Given the description of an element on the screen output the (x, y) to click on. 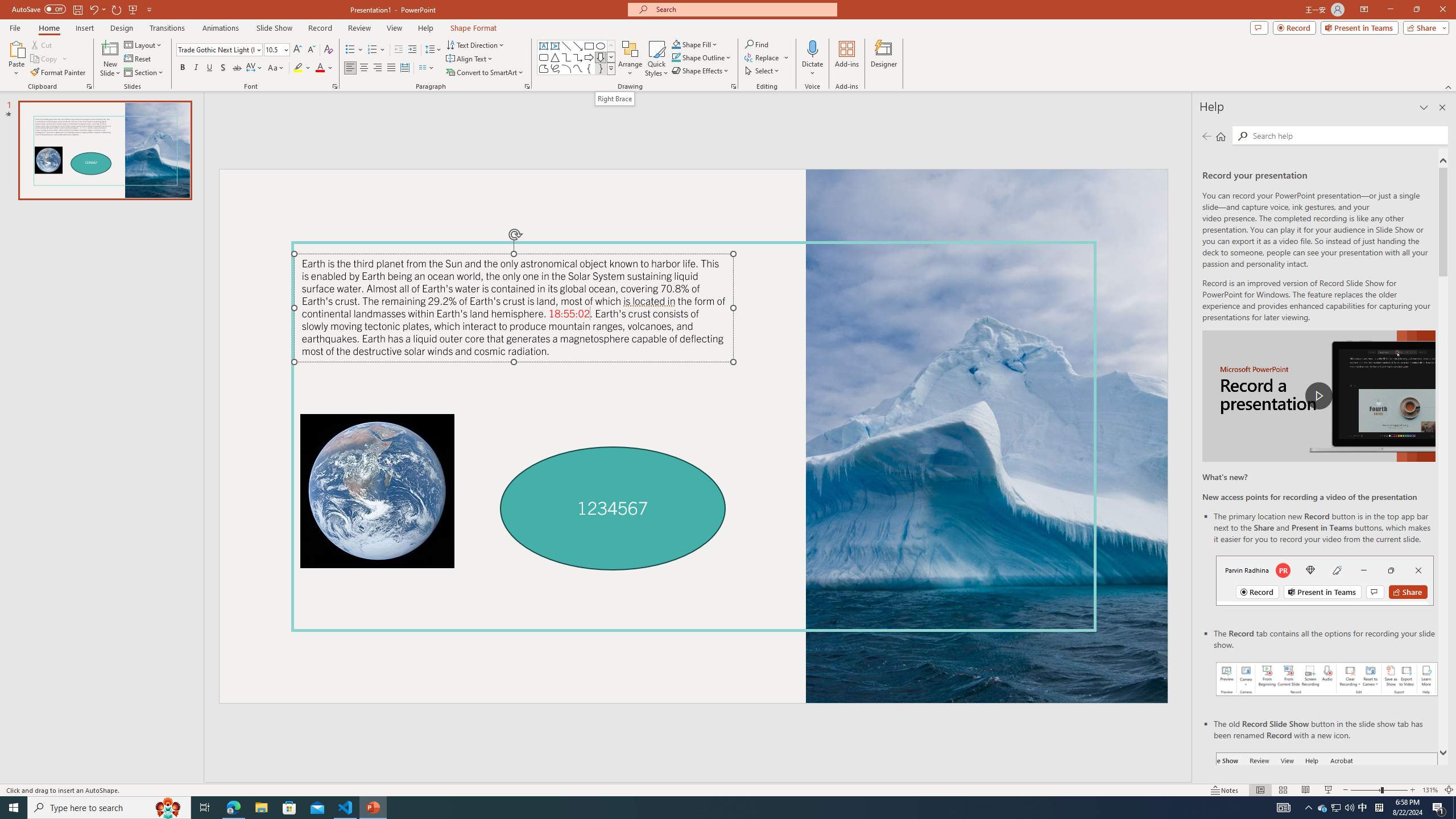
Previous page (1206, 136)
Shape Effects (700, 69)
